Given the description of an element on the screen output the (x, y) to click on. 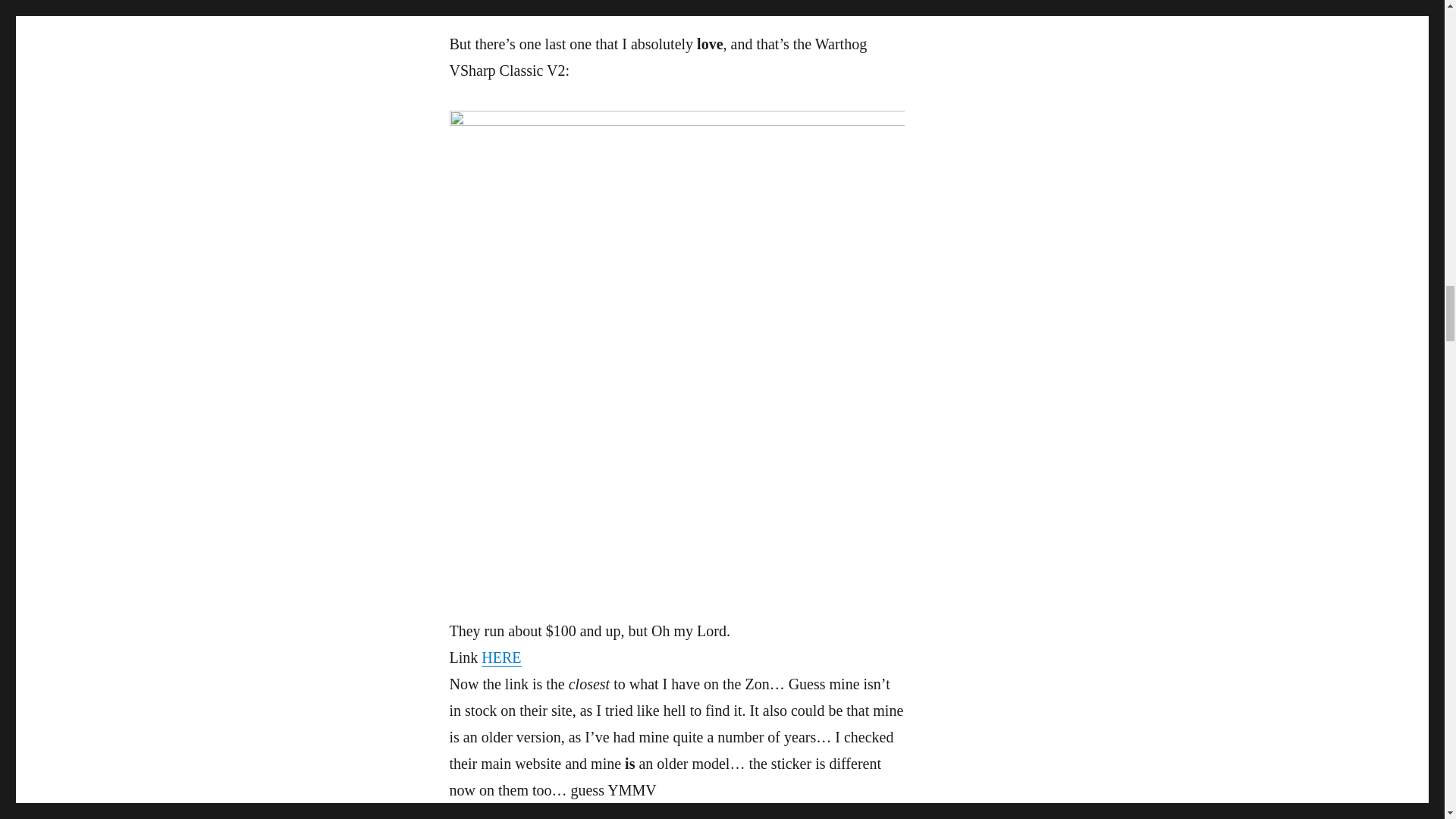
HERE (501, 657)
